Given the description of an element on the screen output the (x, y) to click on. 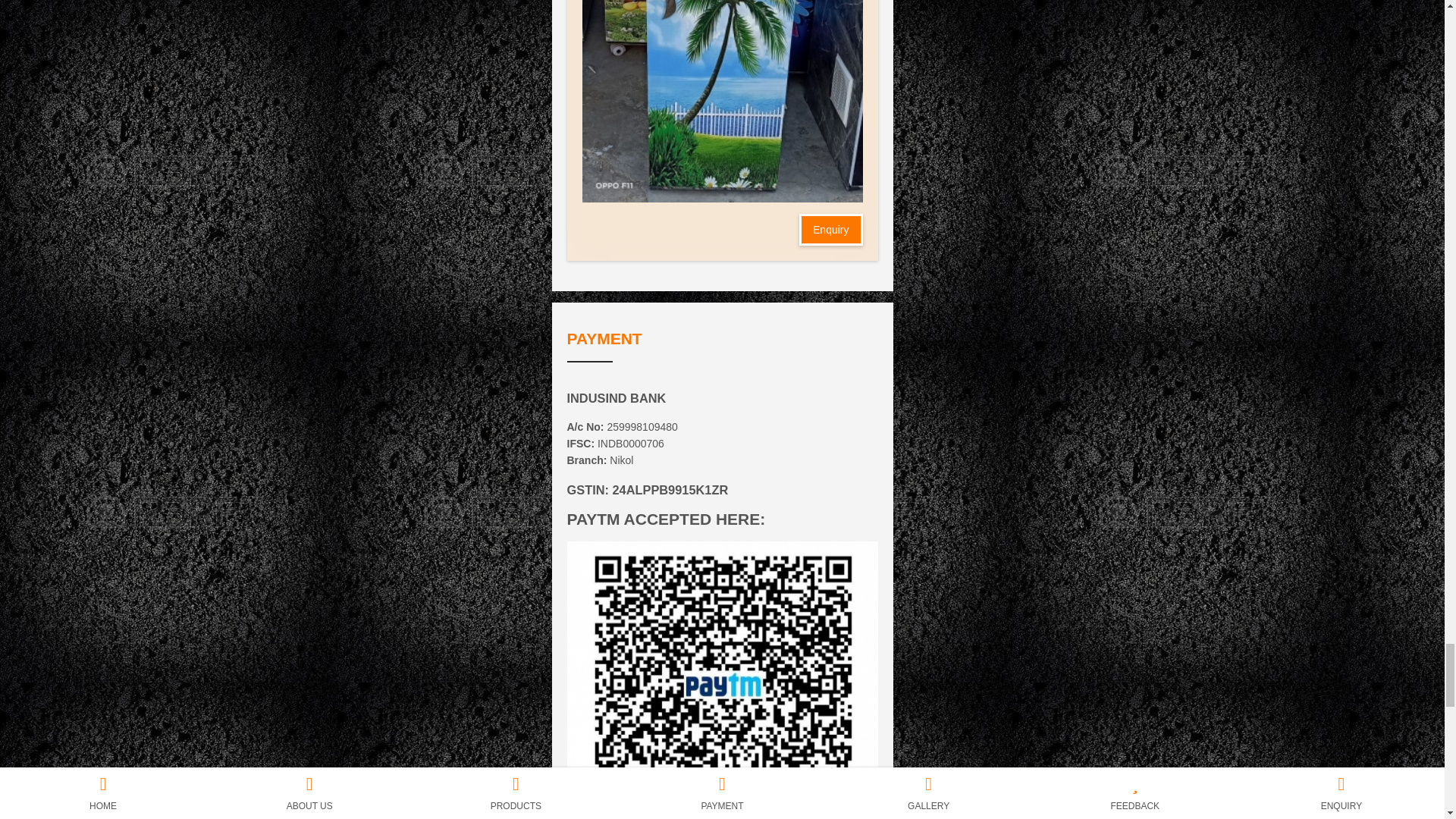
Enquiry (830, 229)
